Given the description of an element on the screen output the (x, y) to click on. 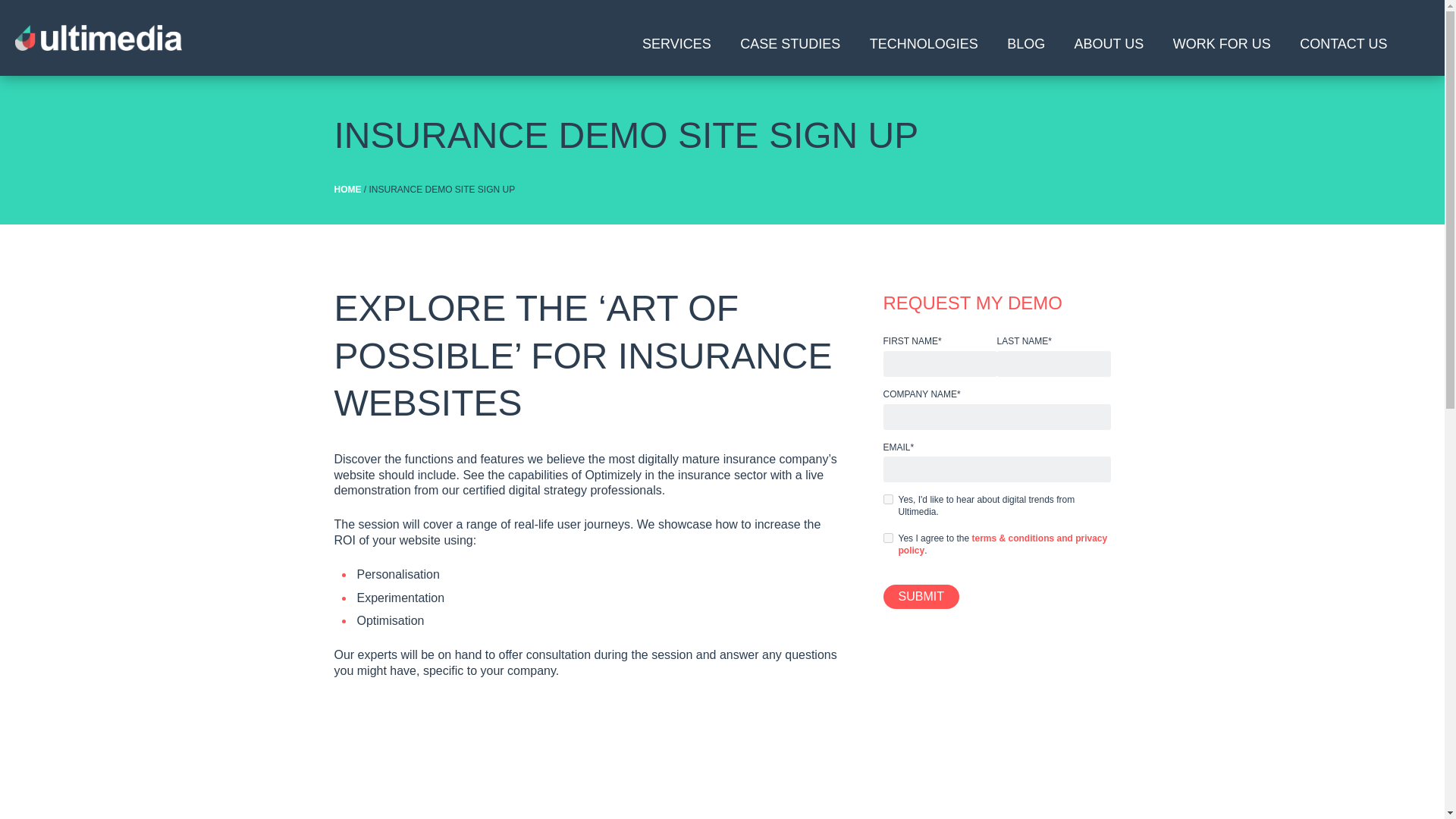
ABOUT US (1109, 53)
true (887, 499)
HOME (347, 189)
true (887, 537)
CONTACT US (1343, 53)
BLOG (1026, 53)
TECHNOLOGIES (924, 53)
SUBMIT (920, 596)
SERVICES (675, 53)
CASE STUDIES (789, 53)
